Given the description of an element on the screen output the (x, y) to click on. 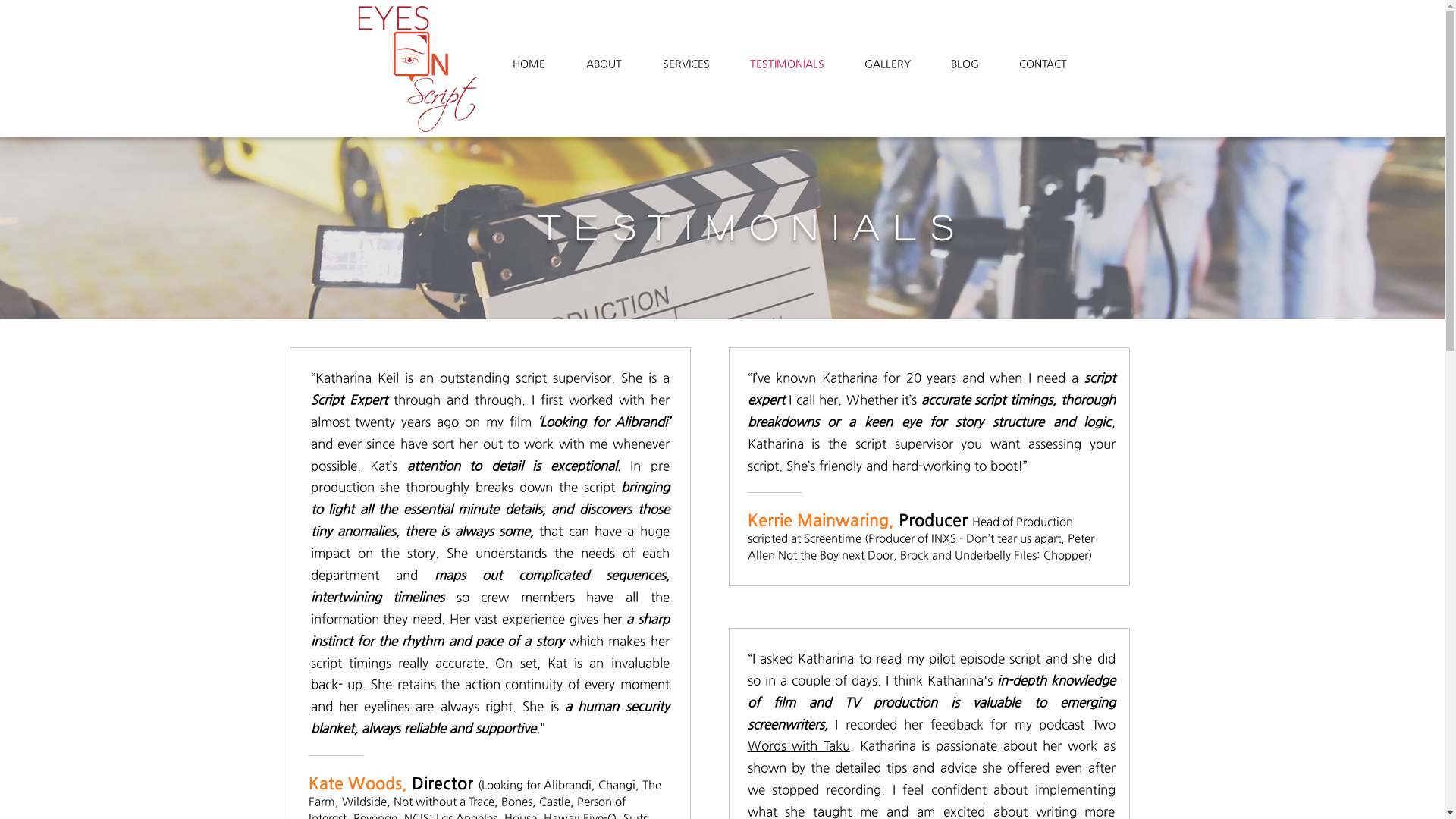
TESTIMONIALS Element type: text (786, 63)
GALLERY Element type: text (887, 63)
ABOUT Element type: text (603, 63)
BLOG Element type: text (965, 63)
HOME Element type: text (527, 63)
CONTACT Element type: text (1043, 63)
Two Words with Taku Element type: text (931, 734)
SERVICES Element type: text (685, 63)
